Given the description of an element on the screen output the (x, y) to click on. 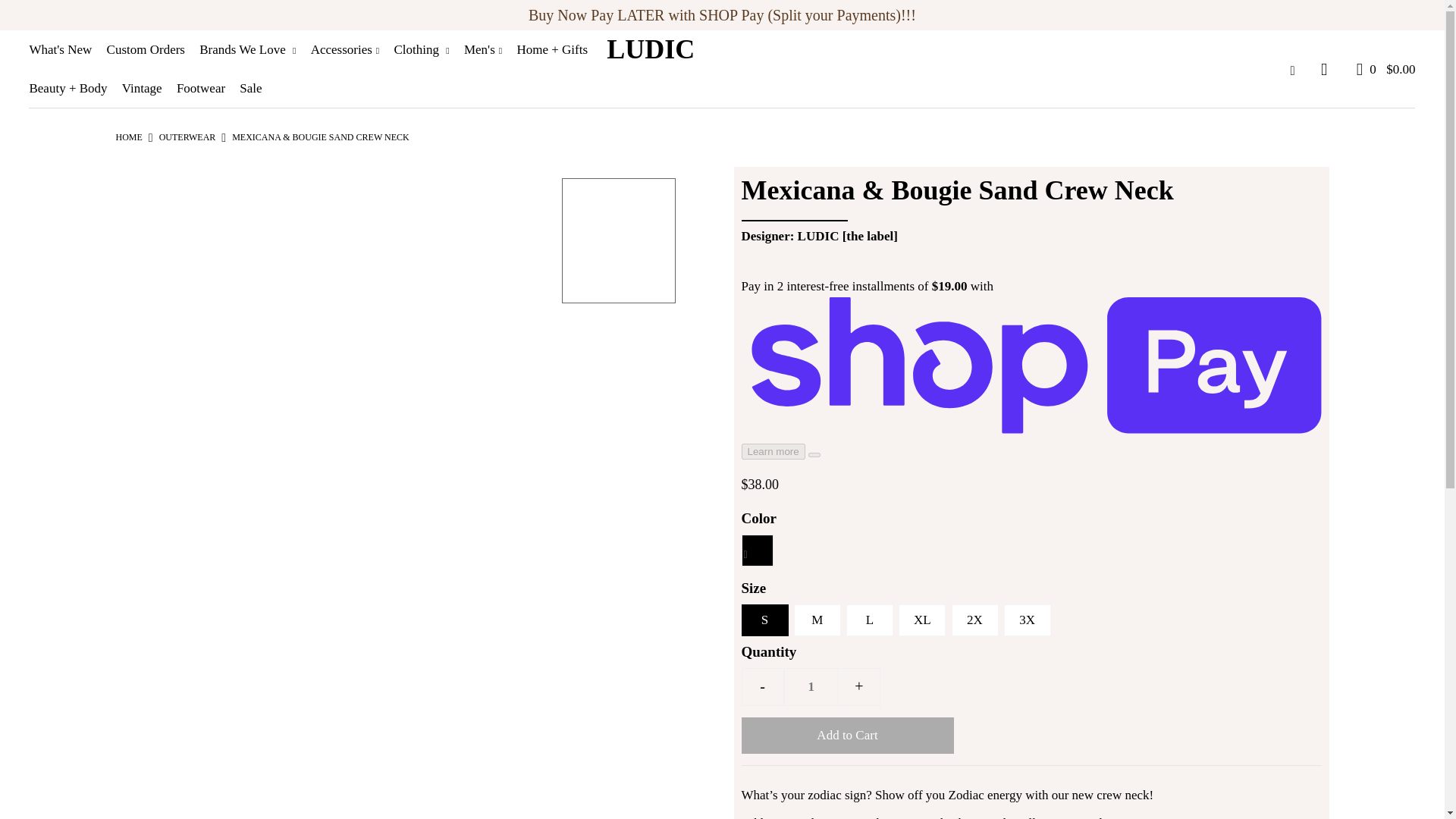
Outerwear (186, 136)
1 (811, 686)
Home (128, 136)
Add to Cart (847, 735)
